Given the description of an element on the screen output the (x, y) to click on. 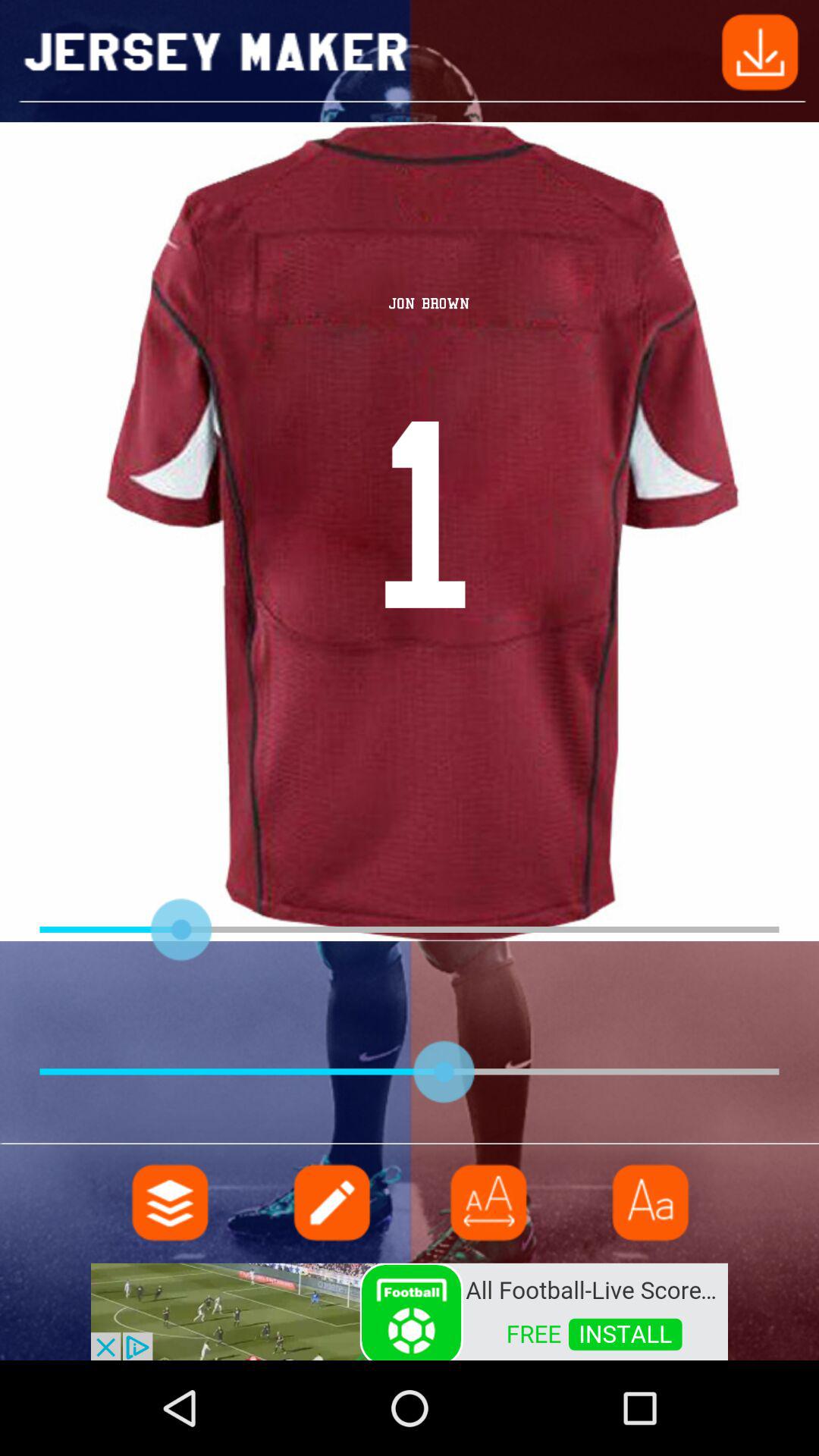
advertisent page (409, 1310)
